Given the description of an element on the screen output the (x, y) to click on. 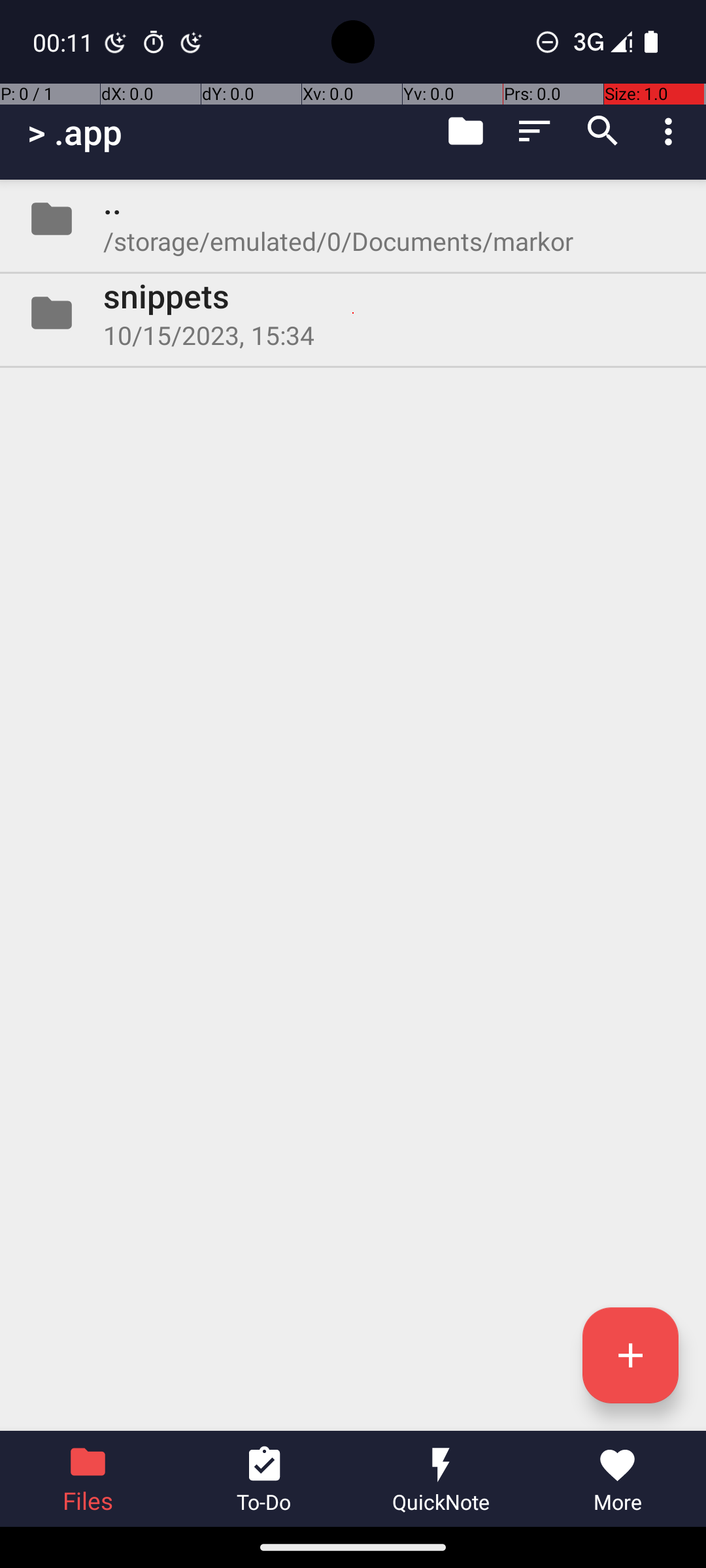
> .app Element type: android.widget.TextView (74, 131)
Folder snippets 10/15/2023, 15:34 Element type: android.widget.LinearLayout (353, 312)
00:11 Element type: android.widget.TextView (64, 41)
Digital Wellbeing notification: Bedtime mode is on Element type: android.widget.ImageView (115, 41)
Digital Wellbeing notification: Do Not Disturb for Bedtime mode Element type: android.widget.ImageView (191, 41)
